Given the description of an element on the screen output the (x, y) to click on. 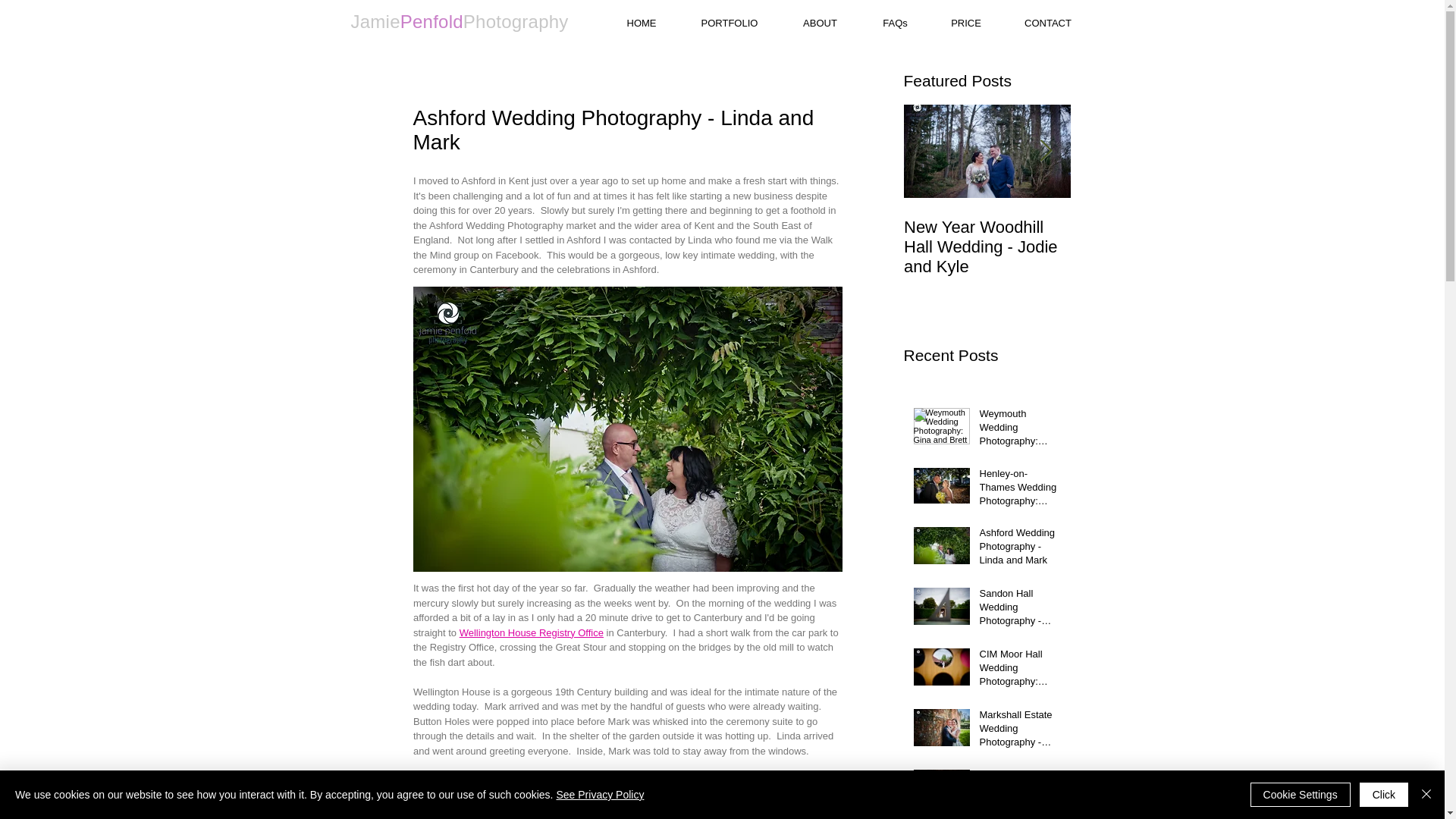
Ashford Wedding Photography - Linda and Mark (1020, 550)
Markshall Estate Wedding Photography - Katie and Mark (1020, 731)
Gosfield Hall Wedding Photography - Gemma and Rees (1020, 792)
Weymouth Wedding Photography: Gina and Brett (1020, 431)
How to Choose your Wedding Photographer (1153, 246)
CONTACT (1047, 22)
PRICE (966, 22)
CIM Moor Hall Wedding Photography: Kirsty and Gareth (1020, 671)
PORTFOLIO (729, 22)
New Year Woodhill Hall Wedding - Jodie and Kyle (987, 246)
Henley-on-Thames Wedding Photography: Alice and Dom (1020, 490)
Wellington House Registry Office (530, 632)
Sandon Hall Wedding Photography - Paige and Kieran (1020, 610)
ABOUT (820, 22)
HOME (641, 22)
